Given the description of an element on the screen output the (x, y) to click on. 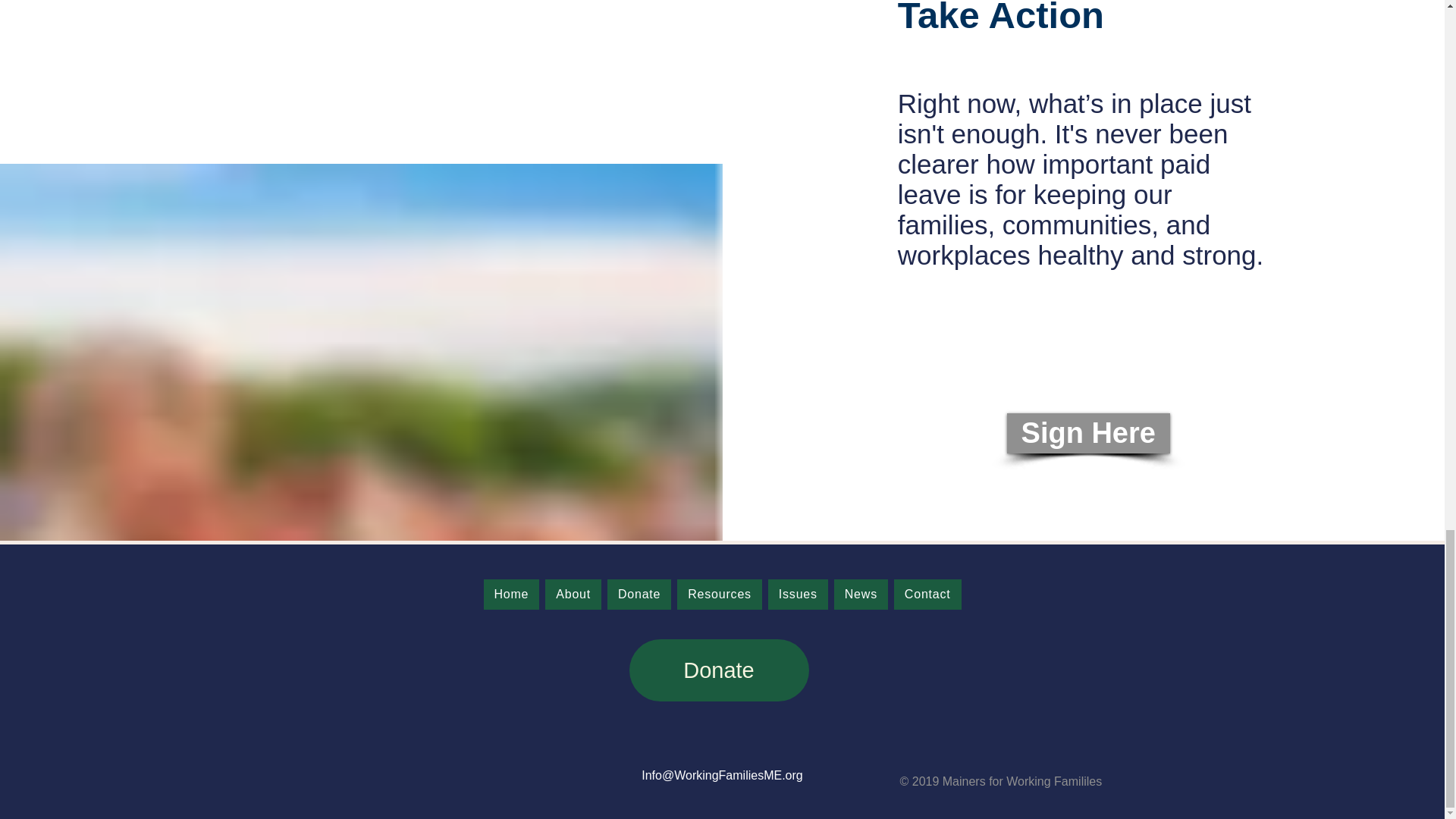
Sign Here (1088, 433)
Home (511, 594)
Issues (798, 594)
Donate (639, 594)
About (572, 594)
Resources (719, 594)
